Given the description of an element on the screen output the (x, y) to click on. 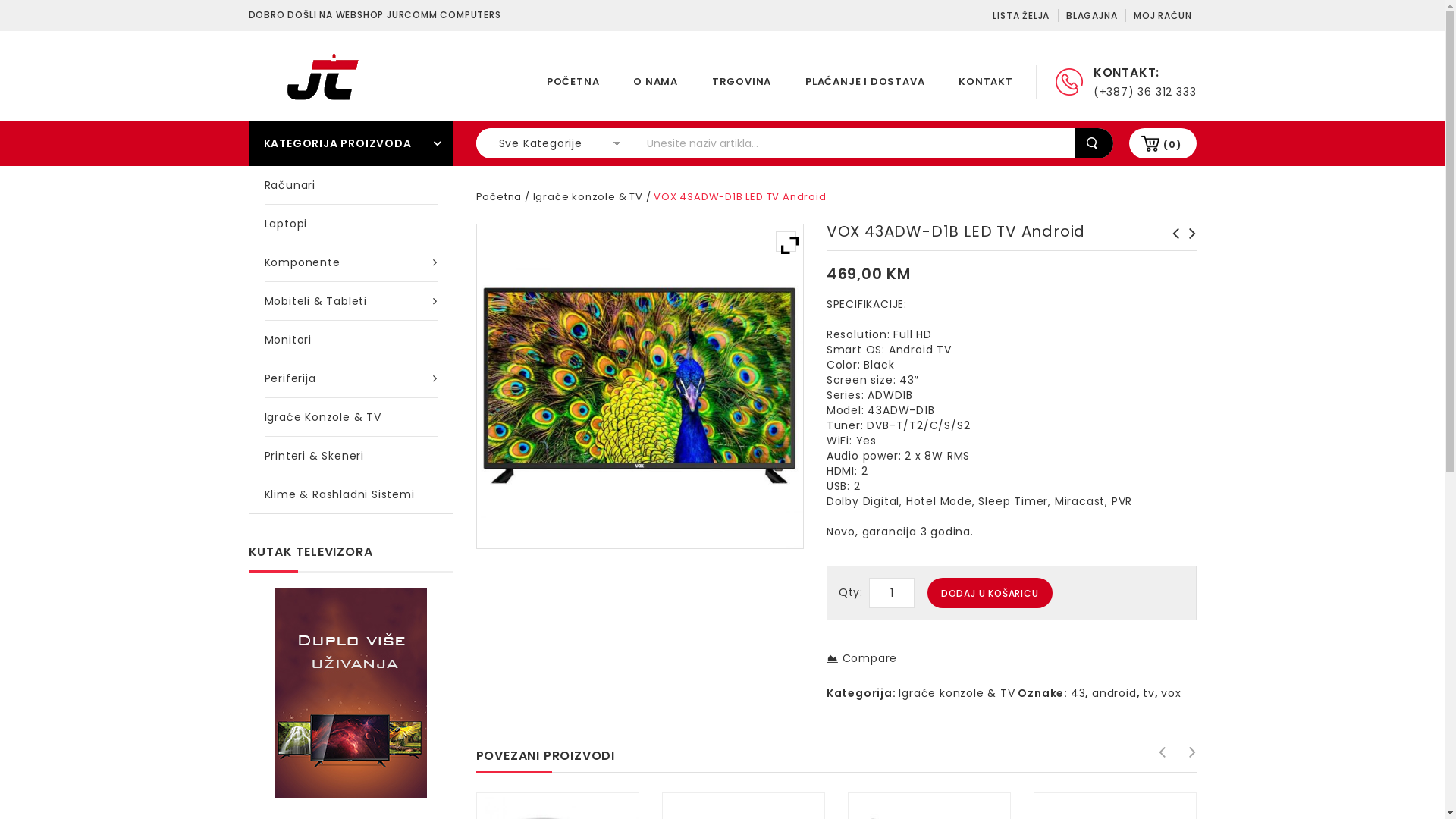
Mobiteli & Tableti Element type: text (349, 301)
android Element type: text (1114, 692)
KONTAKT Element type: text (985, 81)
Printeri & Skeneri Element type: text (349, 455)
Screenshot_20220501-095409_OLXba Element type: hover (639, 386)
Periferija Element type: text (349, 378)
JURCOMM Computers Element type: hover (332, 76)
TESLA 32inch 32T303SH LED TV Element type: text (1171, 248)
TRGOVINA Element type: text (741, 81)
Qty Element type: hover (891, 592)
LENOVO 15.6" i7-5500U / 8GB / 500GB / Intel HD Element type: text (1187, 248)
Komponente Element type: text (349, 262)
Klime & Rashladni Sistemi Element type: text (349, 494)
Search for: Element type: hover (855, 143)
(0) Element type: text (1171, 144)
tv Element type: text (1148, 692)
Compare Element type: text (861, 658)
43 Element type: text (1077, 692)
O NAMA Element type: text (655, 81)
Monitori Element type: text (349, 339)
Laptopi Element type: text (349, 223)
BLAGAJNA Element type: text (1089, 15)
vox Element type: text (1170, 692)
